Given the description of an element on the screen output the (x, y) to click on. 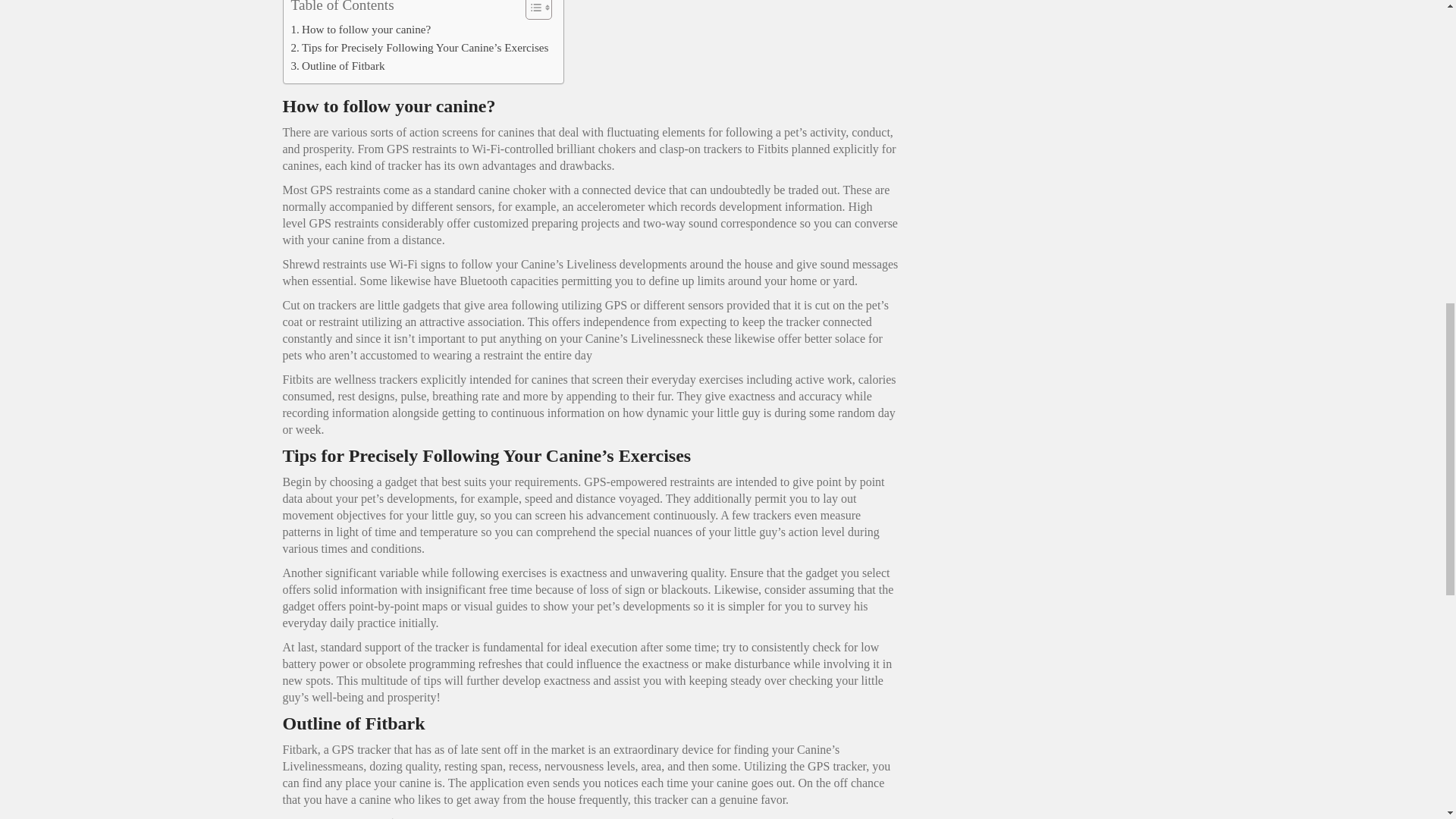
Outline of Fitbark (338, 65)
How to follow your canine? (360, 29)
Outline of Fitbark (338, 65)
How to follow your canine? (360, 29)
